Given the description of an element on the screen output the (x, y) to click on. 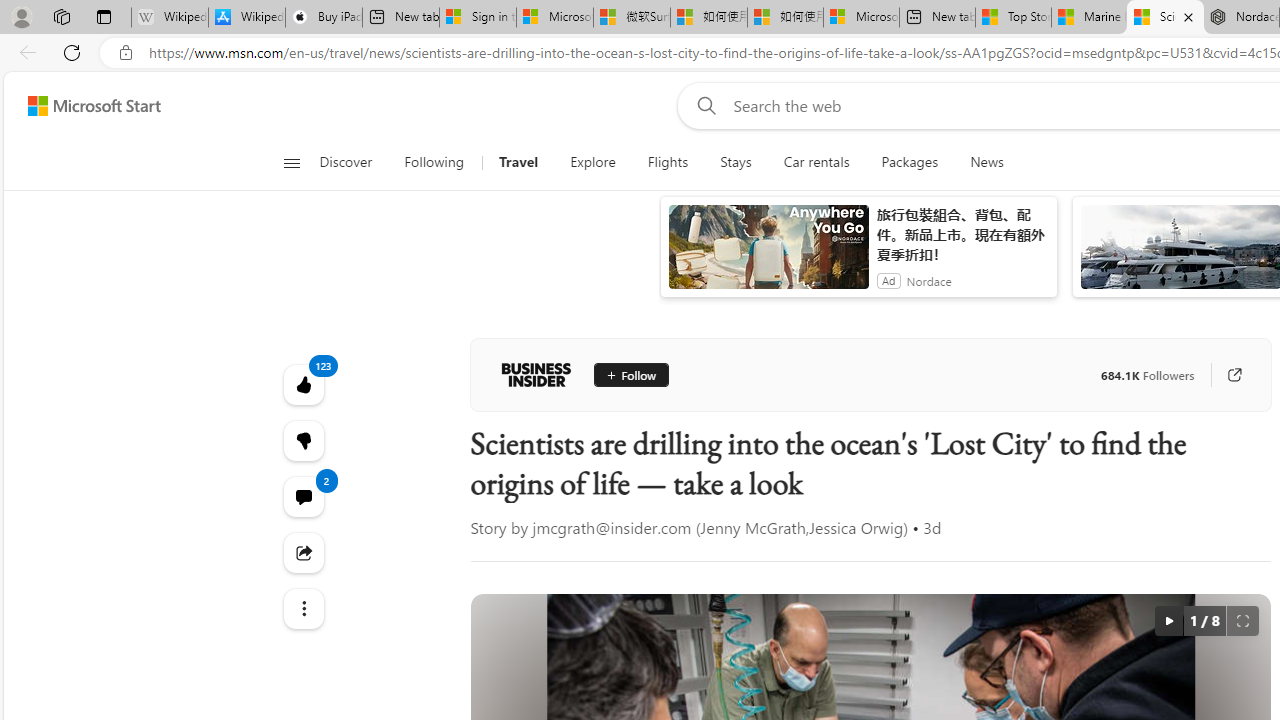
Marine life - MSN (1089, 17)
Car rentals (816, 162)
Microsoft Services Agreement (554, 17)
News (986, 162)
anim-content (768, 255)
Nordace (929, 280)
Car rentals (816, 162)
Travel (517, 162)
Flights (667, 162)
123 (302, 440)
Discover (353, 162)
Travel (518, 162)
Business Insider (536, 374)
